Given the description of an element on the screen output the (x, y) to click on. 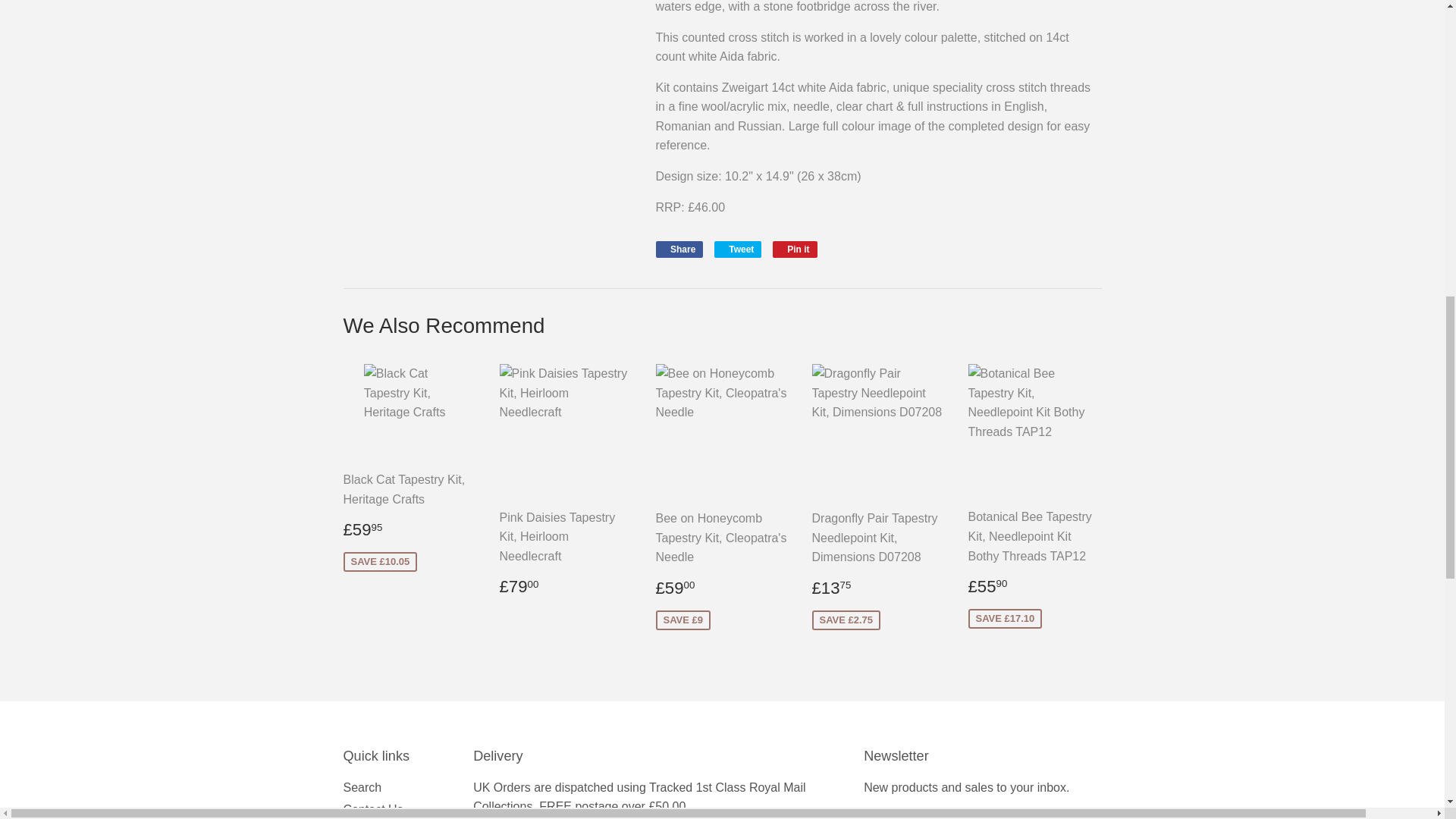
Share on Facebook (679, 248)
Pin on Pinterest (794, 248)
Tweet on Twitter (737, 248)
